Given the description of an element on the screen output the (x, y) to click on. 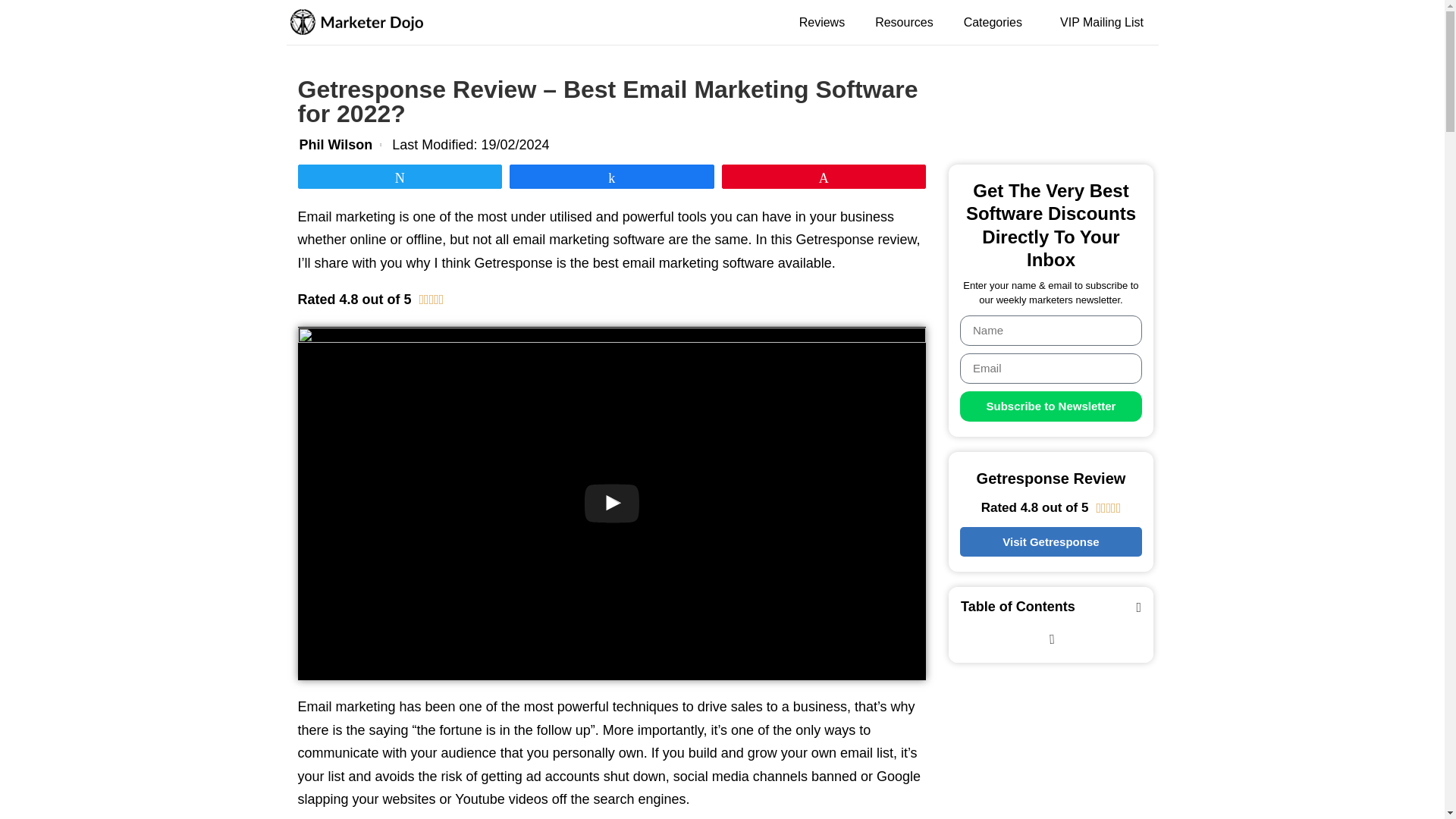
Subscribe to Newsletter (1050, 406)
Resources (903, 22)
Phil Wilson (331, 145)
VIP Mailing List (1101, 22)
Categories (996, 22)
Visit Getresponse (1050, 541)
Reviews (821, 22)
